Given the description of an element on the screen output the (x, y) to click on. 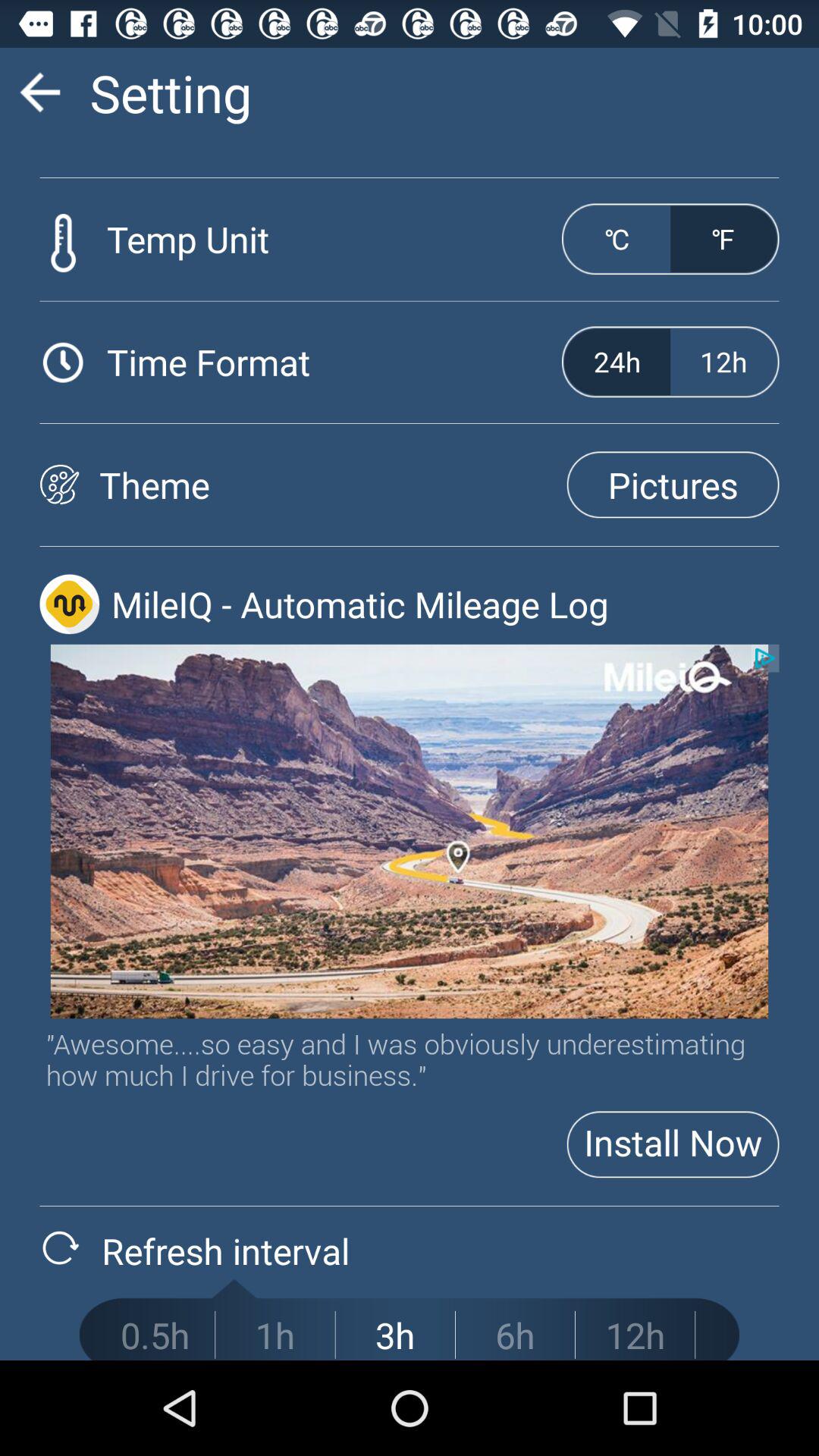
go back previous (39, 92)
